Given the description of an element on the screen output the (x, y) to click on. 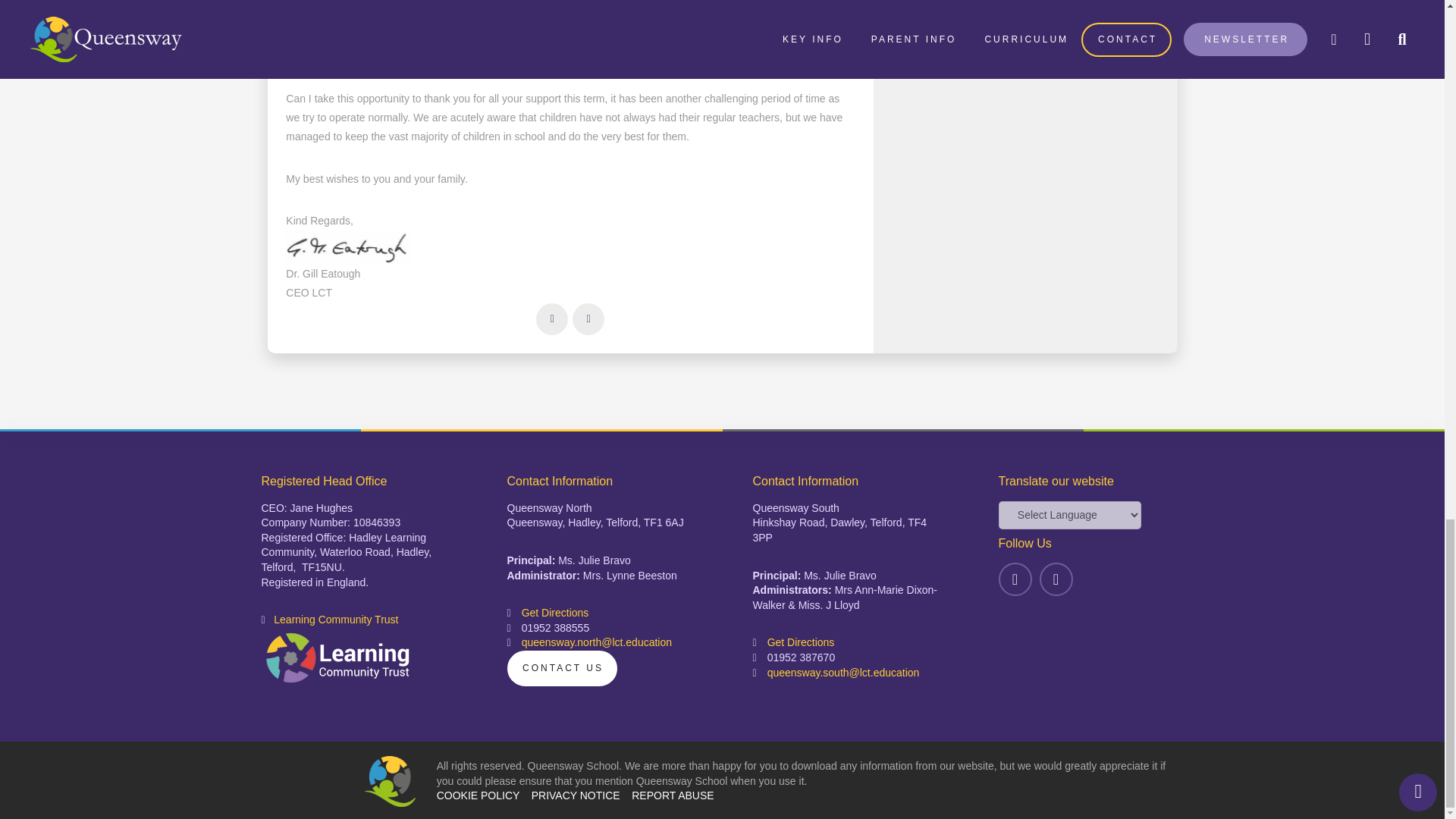
CONTACT US (560, 668)
Prev (551, 318)
COOKIE POLICY (477, 795)
Next (588, 318)
Learning Community Trust (335, 619)
Get Directions (800, 642)
Get Directions (555, 612)
REPORT ABUSE (672, 795)
PRIVACY NOTICE (575, 795)
